Given the description of an element on the screen output the (x, y) to click on. 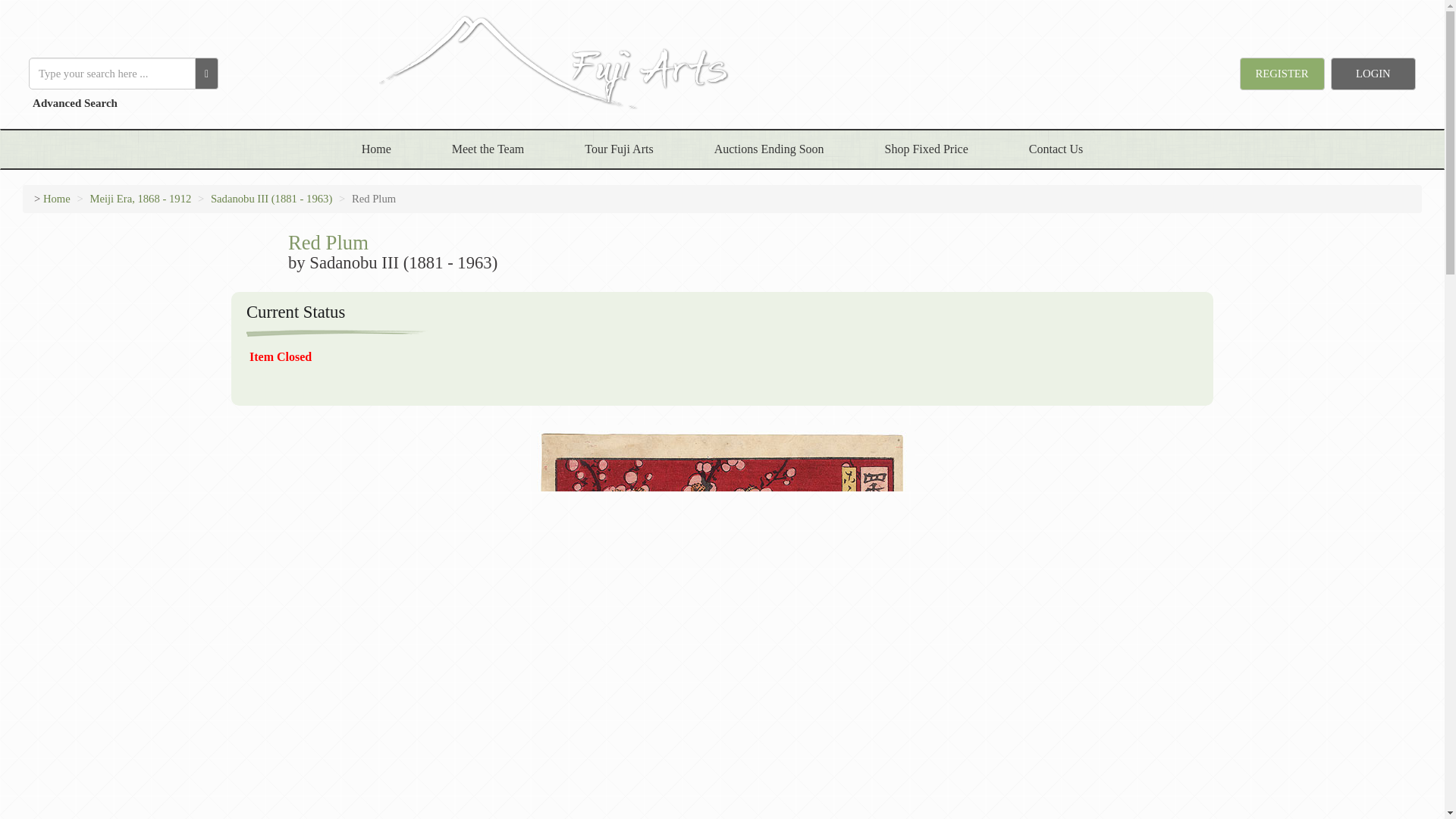
Meet the Team (488, 149)
Contact Us (1055, 149)
Meiji Era, 1868 - 1912 (139, 198)
Shop Fixed Price (926, 149)
Tour Fuji Arts (618, 149)
Home (56, 198)
Home (376, 149)
REGISTER (1282, 73)
LOGIN (1372, 73)
Auctions Ending Soon (769, 149)
Advanced Search (73, 102)
